Given the description of an element on the screen output the (x, y) to click on. 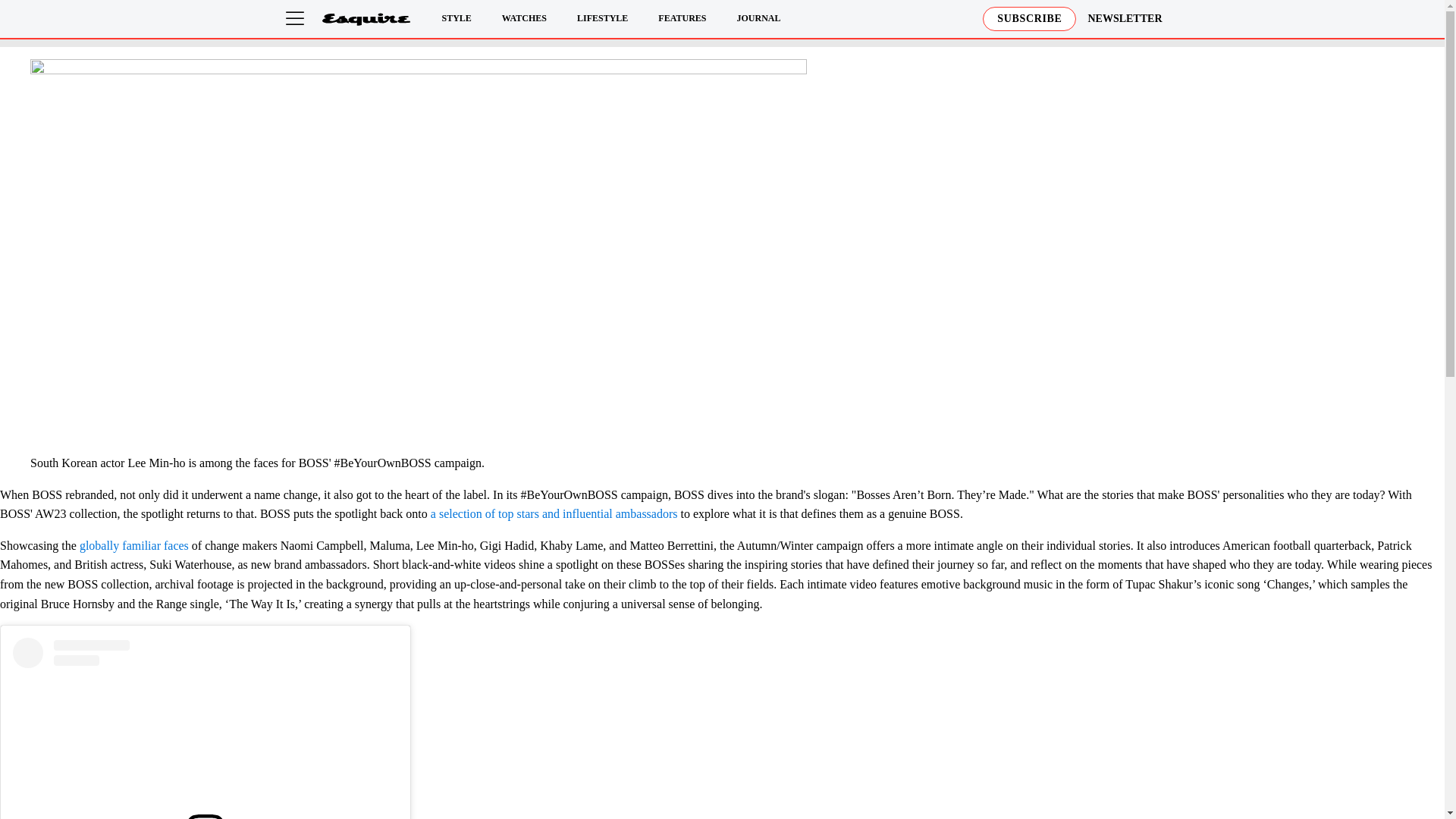
a selection of top stars and influential ambassadors (554, 513)
FEATURES (682, 18)
LIFESTYLE (601, 18)
globally familiar faces (134, 545)
NEWSLETTER (1124, 18)
WATCHES (524, 18)
STYLE (455, 18)
SUBSCRIBE (1028, 18)
JOURNAL (758, 18)
View this post on Instagram (205, 728)
